Given the description of an element on the screen output the (x, y) to click on. 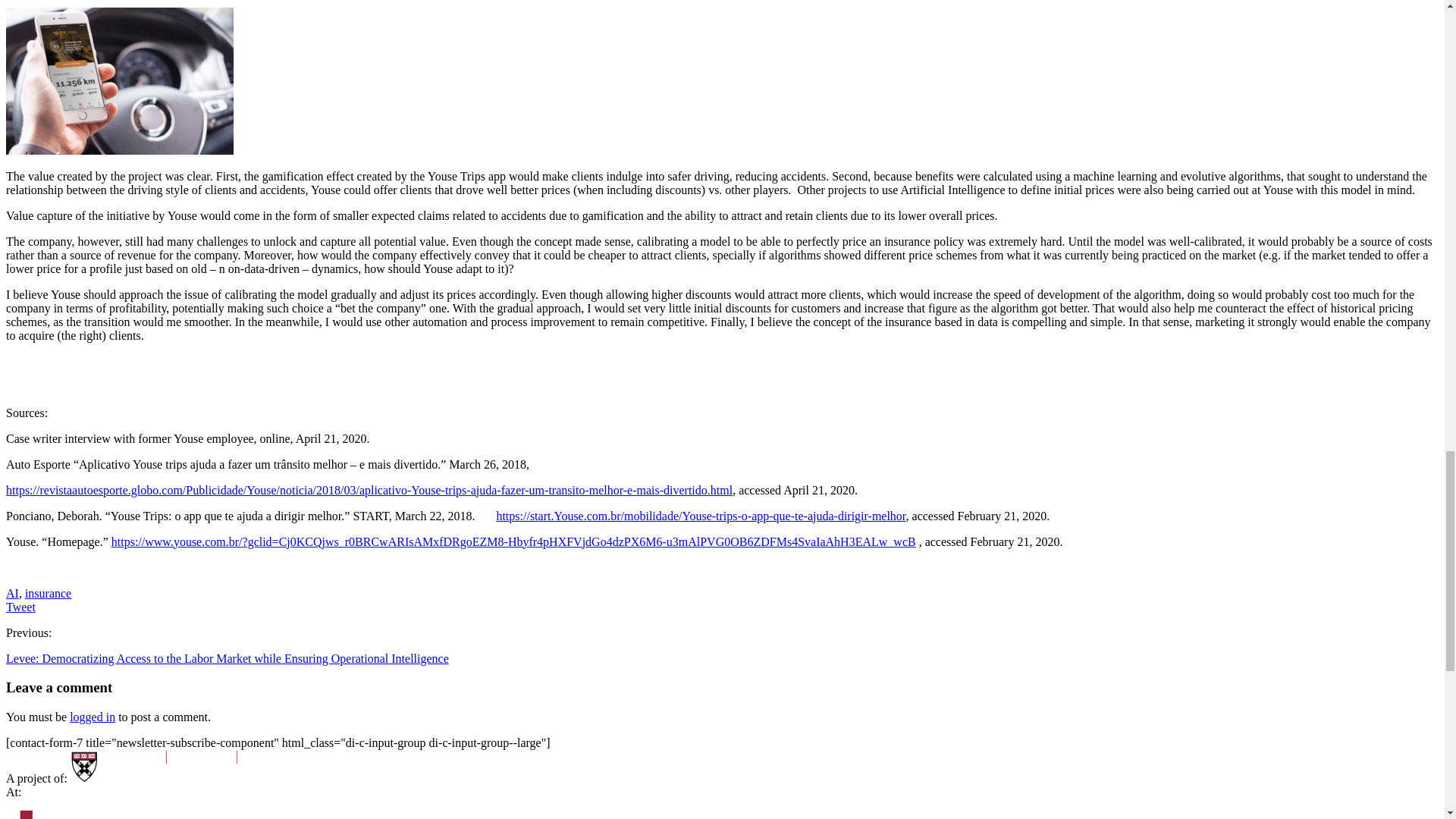
Tweet (19, 606)
insurance (47, 593)
logged in (92, 716)
AI (11, 593)
